Given the description of an element on the screen output the (x, y) to click on. 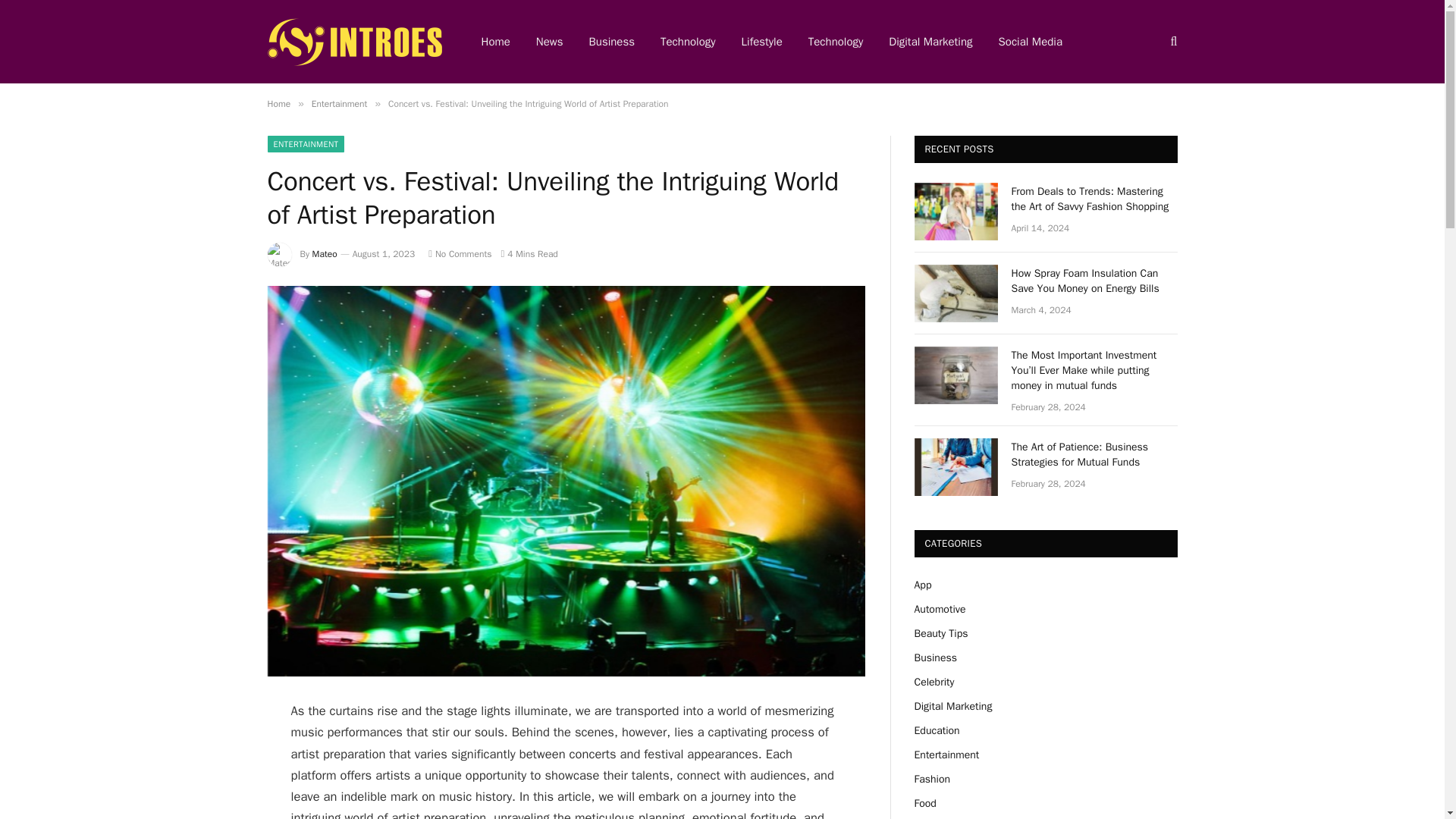
No Comments (460, 254)
Automotive (940, 608)
Technology (688, 41)
The Art of Patience: Business Strategies for Mutual Funds (955, 467)
Beauty Tips (941, 633)
Social Media (1030, 41)
Digital Marketing (930, 41)
Entertainment (339, 103)
ENTERTAINMENT (304, 143)
Posts by Mateo (325, 254)
Mateo (325, 254)
App (922, 584)
Home (277, 103)
